Given the description of an element on the screen output the (x, y) to click on. 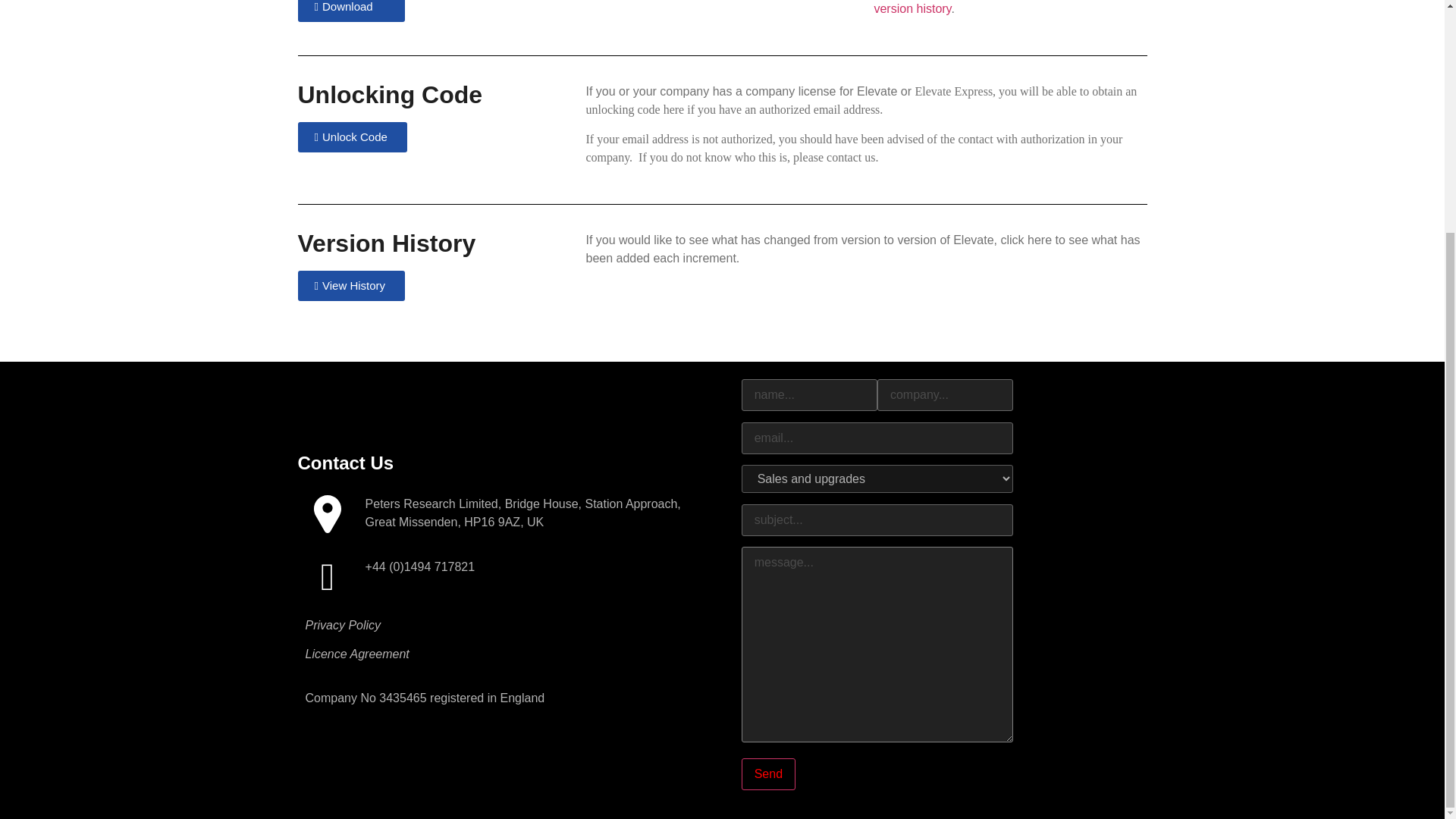
Download (350, 11)
View History (350, 286)
Unlock Code (351, 137)
Send (767, 774)
Send (767, 774)
Privacy Policy (342, 625)
version history (911, 8)
Licence Agreement (356, 653)
